Given the description of an element on the screen output the (x, y) to click on. 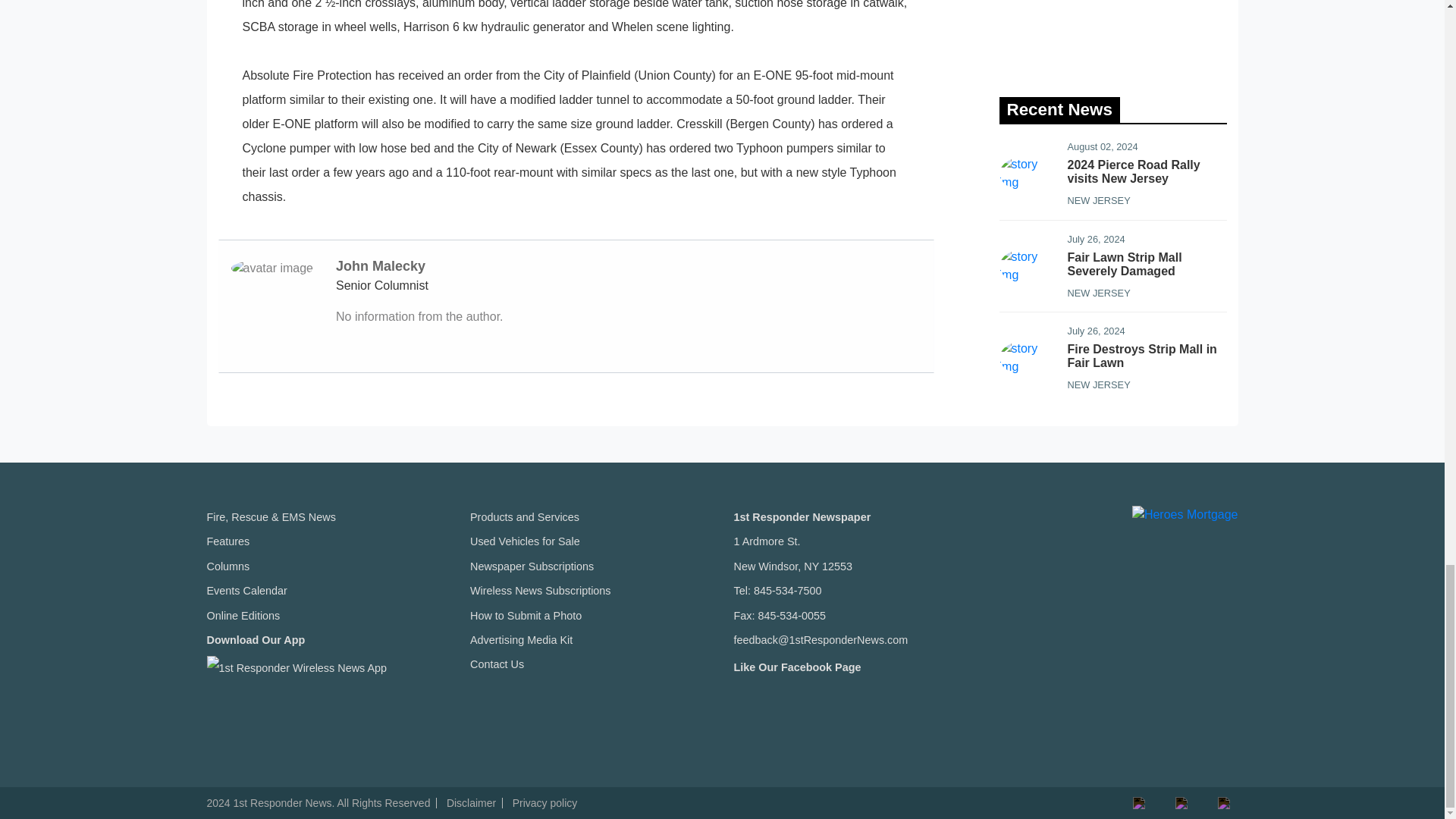
Features (227, 541)
Columns (227, 566)
Events Calendar (246, 590)
Online Editions (242, 615)
Features (227, 541)
